Given the description of an element on the screen output the (x, y) to click on. 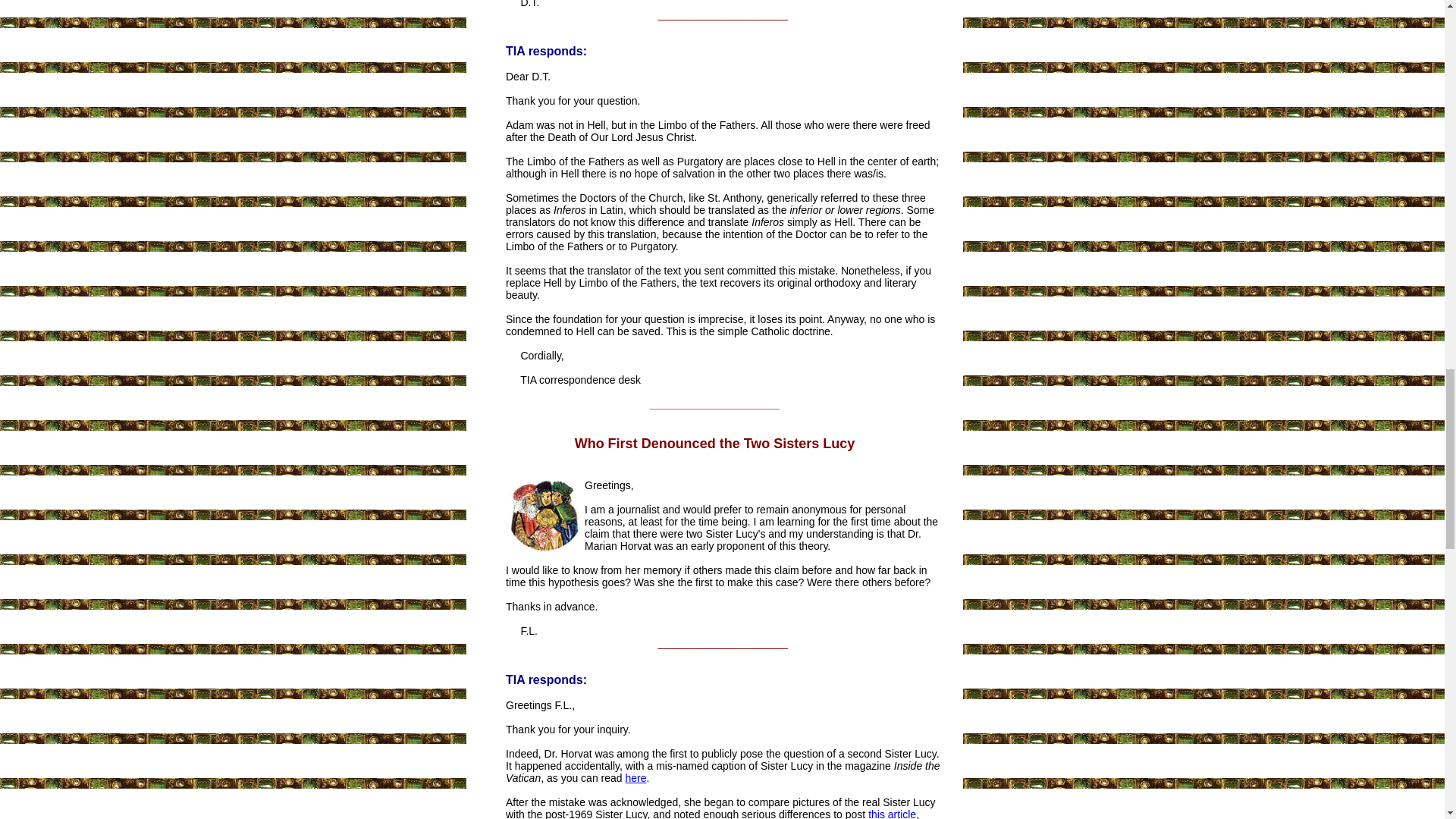
this article (891, 813)
here (635, 777)
